Given the description of an element on the screen output the (x, y) to click on. 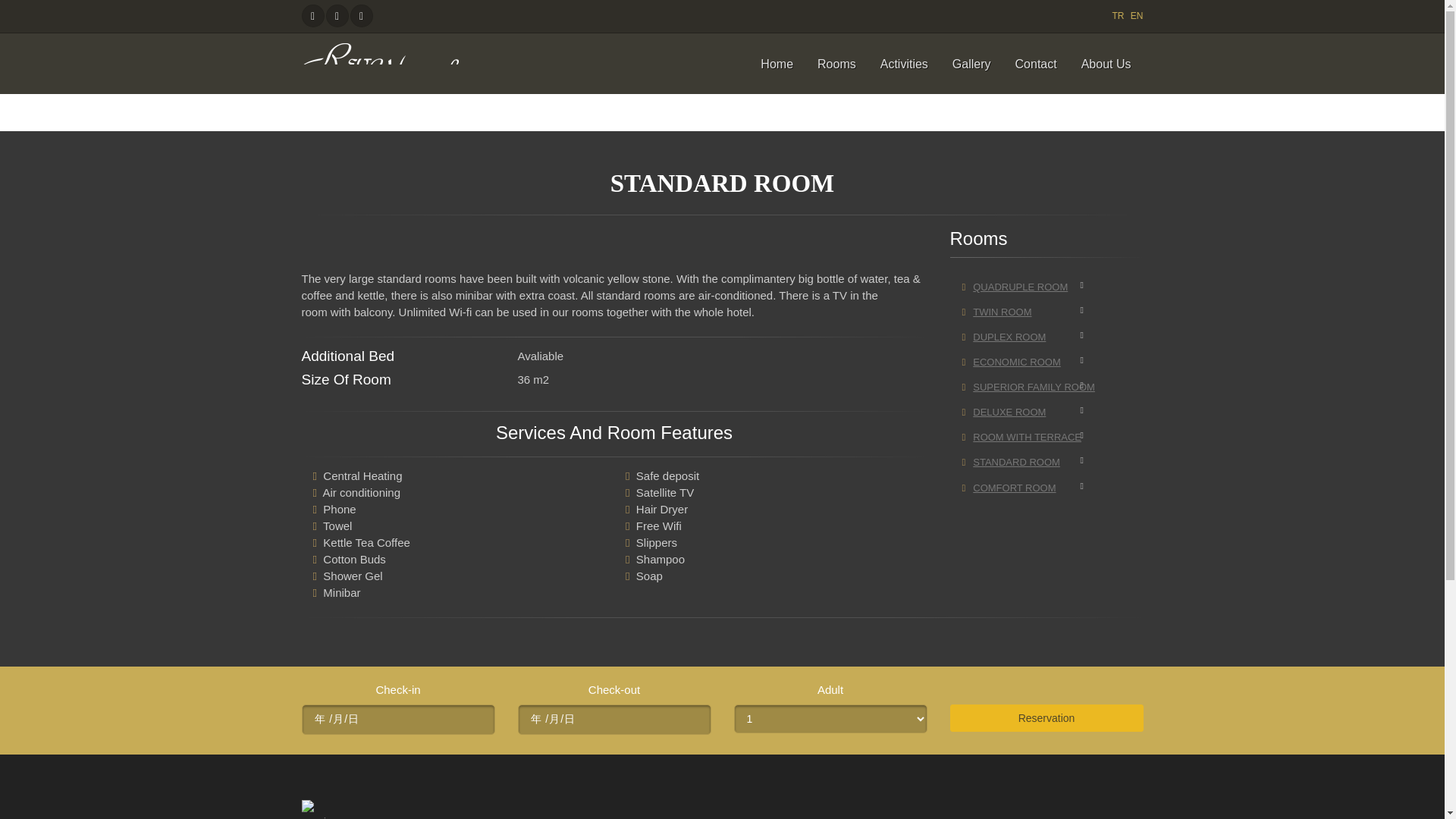
DELUXE ROOM (1027, 412)
SUPERIOR FAMILY ROOM (1027, 386)
Activities (903, 64)
TR (1118, 15)
ECONOMIC ROOM (1027, 361)
Contact (1035, 64)
EN (1136, 15)
QUADRUPLE ROOM (1027, 286)
Rooms (836, 64)
Home (776, 64)
